Given the description of an element on the screen output the (x, y) to click on. 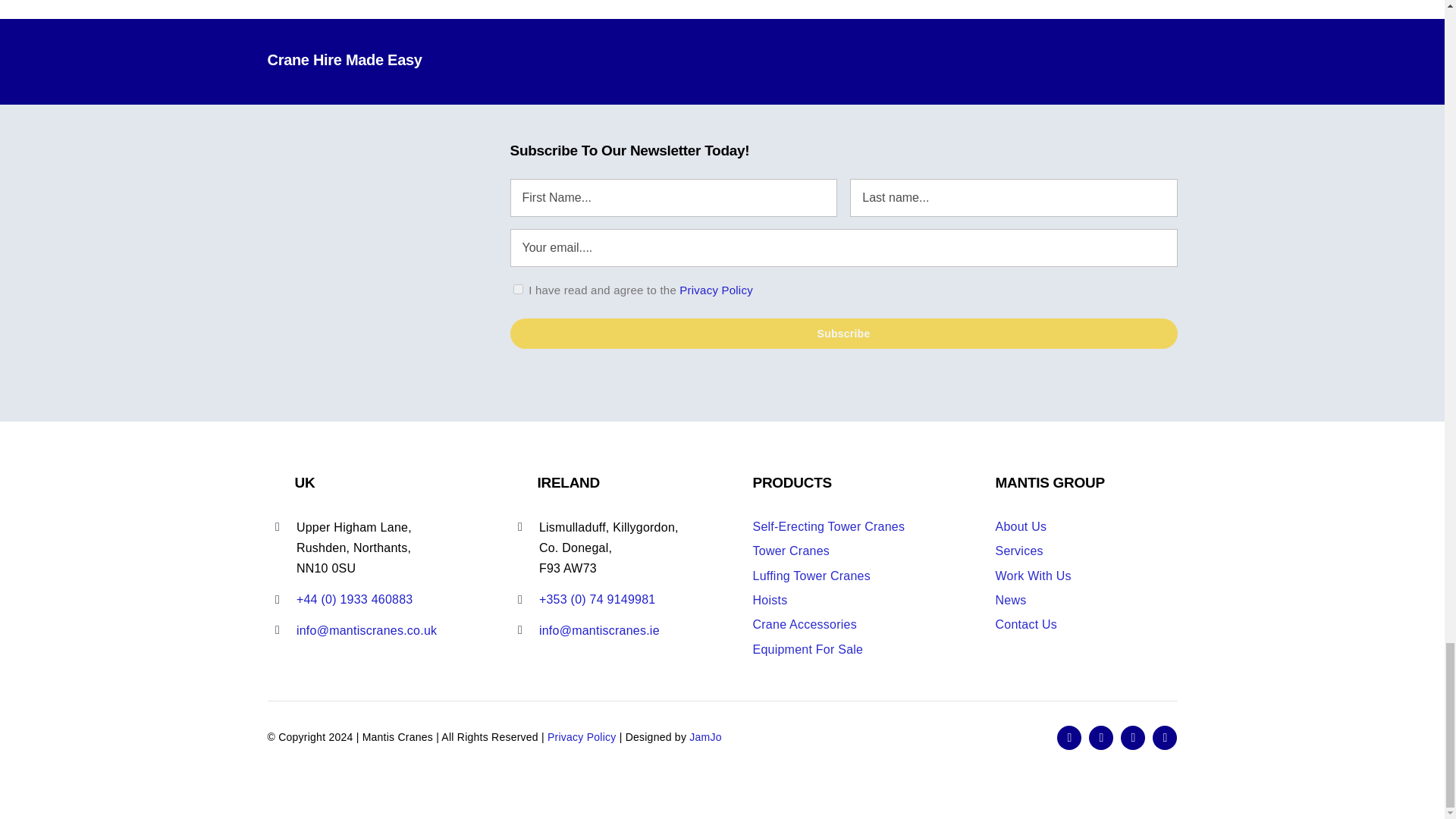
X (1101, 737)
Subscribe (842, 333)
LinkedIn (1164, 737)
Facebook (1069, 737)
Instagram (1132, 737)
